Given the description of an element on the screen output the (x, y) to click on. 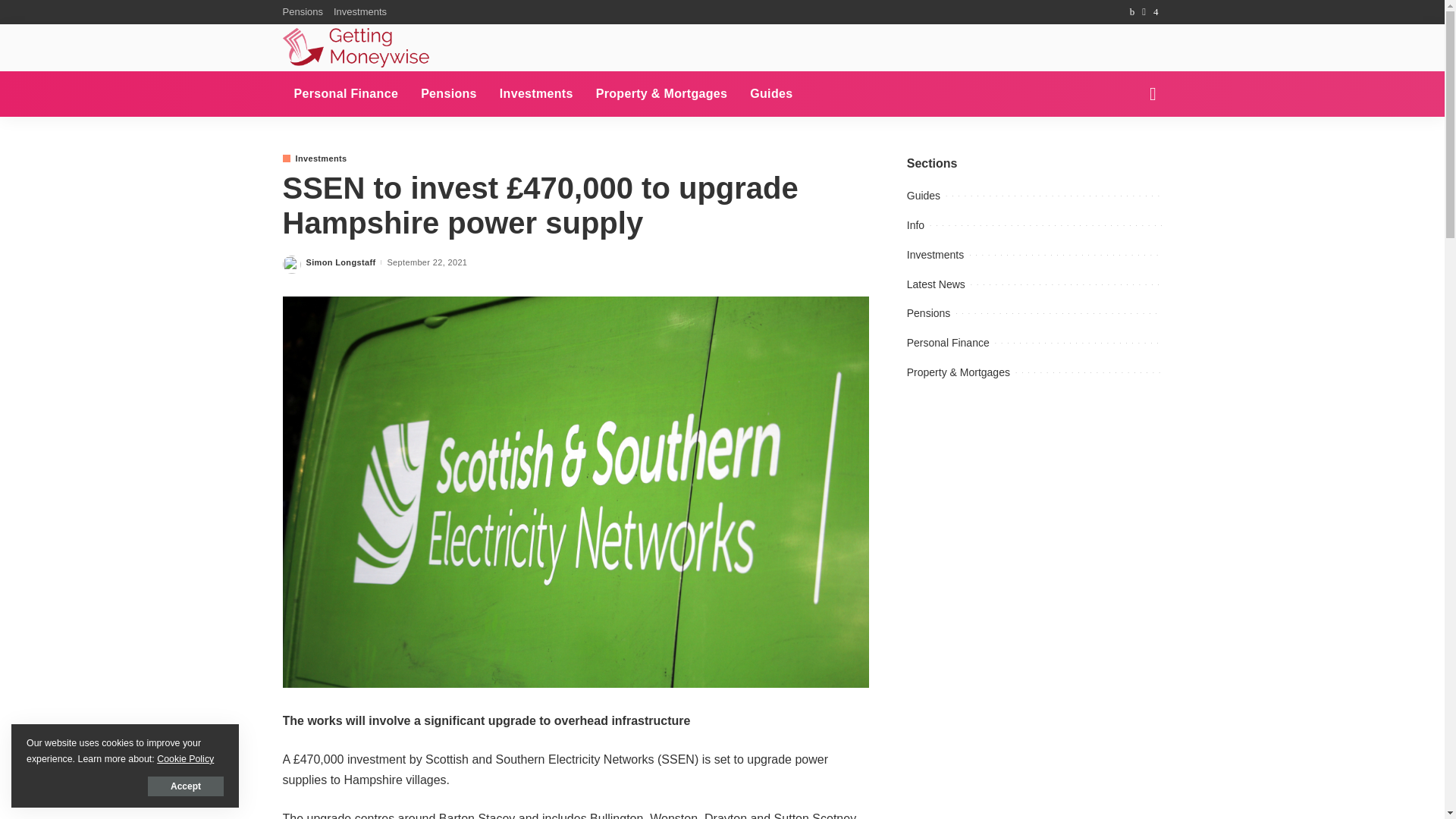
Guides (770, 94)
Search (1140, 30)
Search (1140, 147)
Pensions (448, 94)
Investments (360, 11)
Investments (314, 158)
Investments (536, 94)
Simon Longstaff (340, 262)
Pensions (304, 11)
Personal Finance (345, 94)
